Given the description of an element on the screen output the (x, y) to click on. 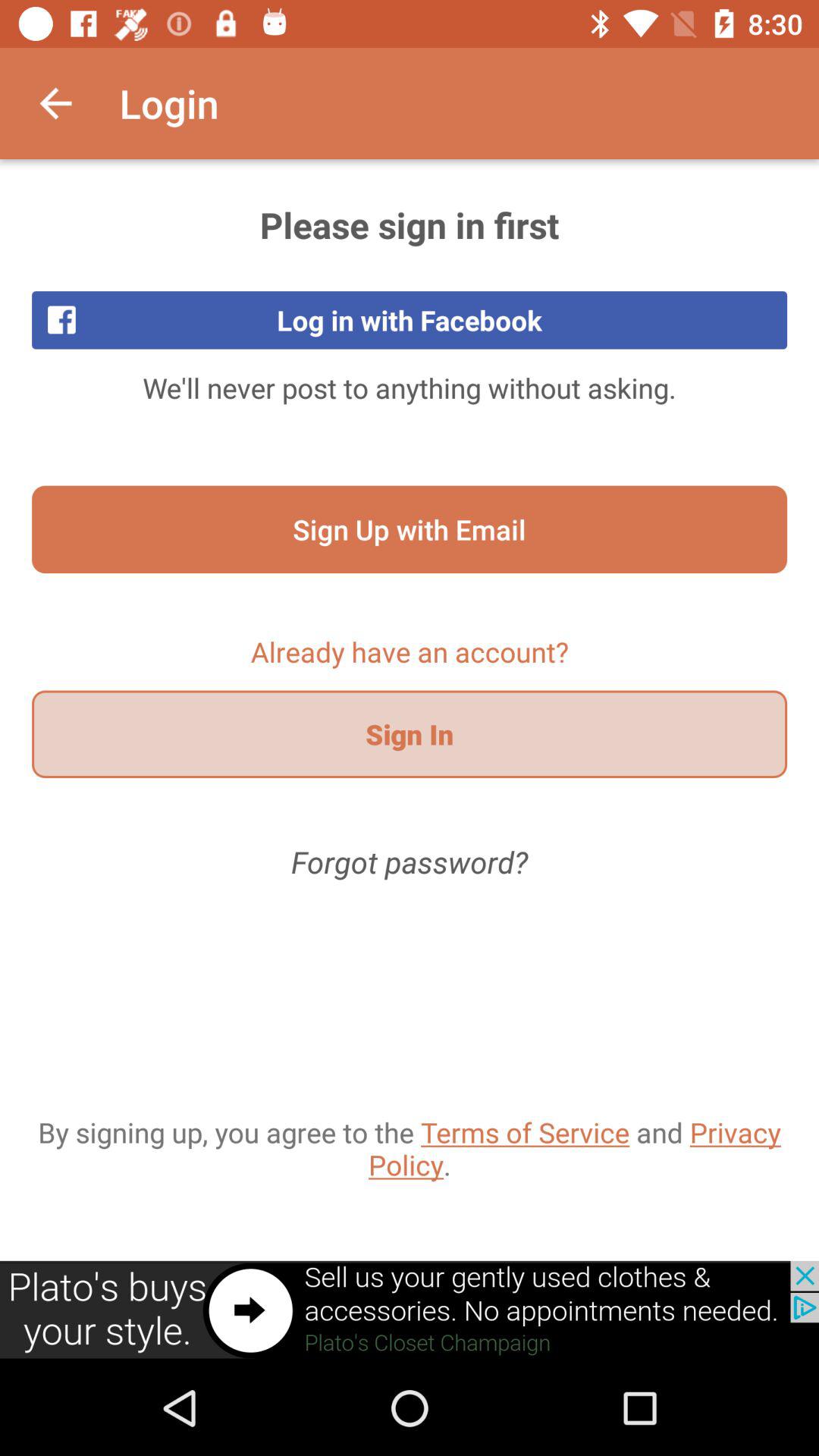
link to add (409, 1310)
